Given the description of an element on the screen output the (x, y) to click on. 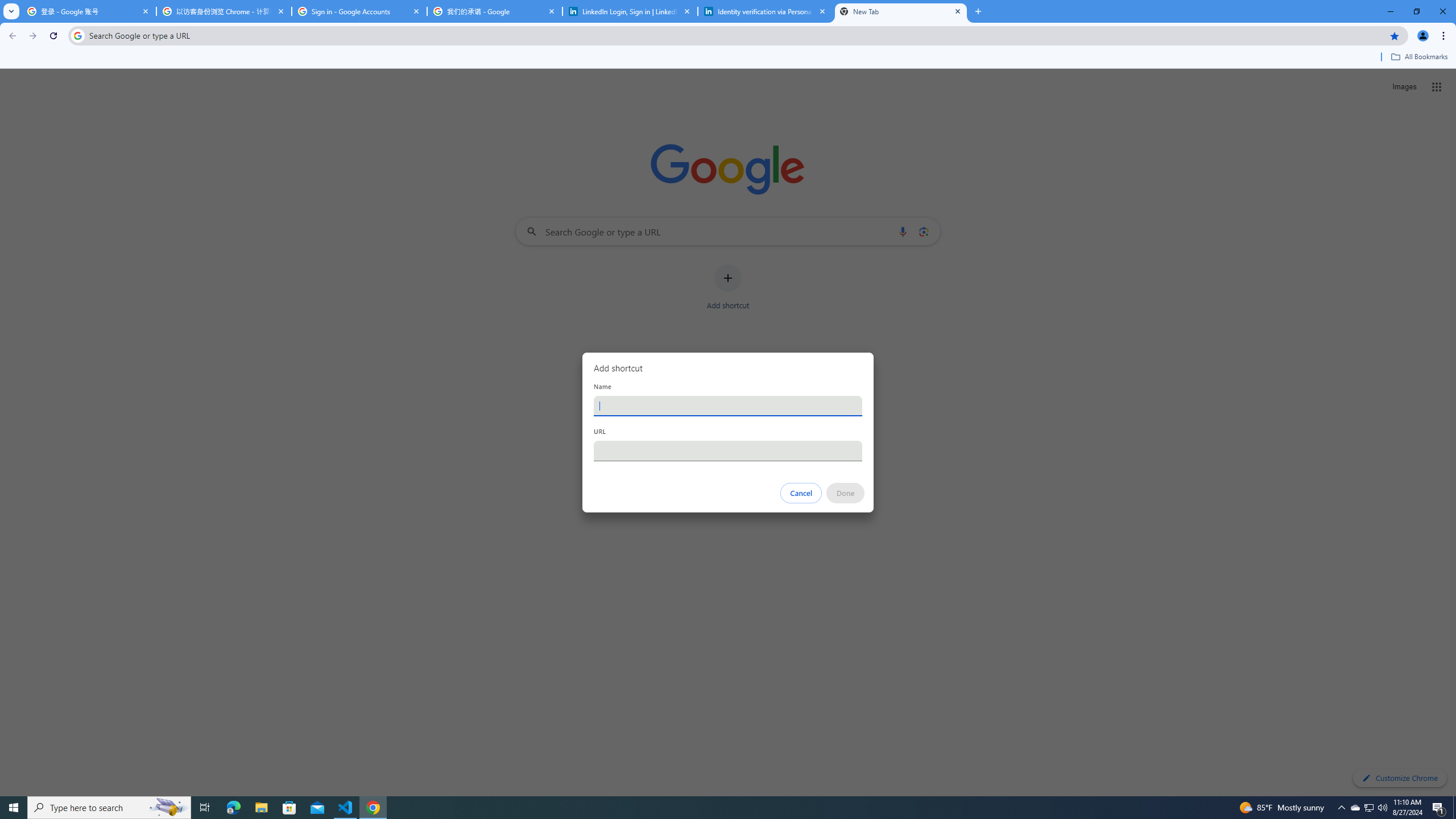
Sign in - Google Accounts (359, 11)
Done (845, 493)
Name (727, 405)
New Tab (901, 11)
Identity verification via Persona | LinkedIn Help (765, 11)
